Given the description of an element on the screen output the (x, y) to click on. 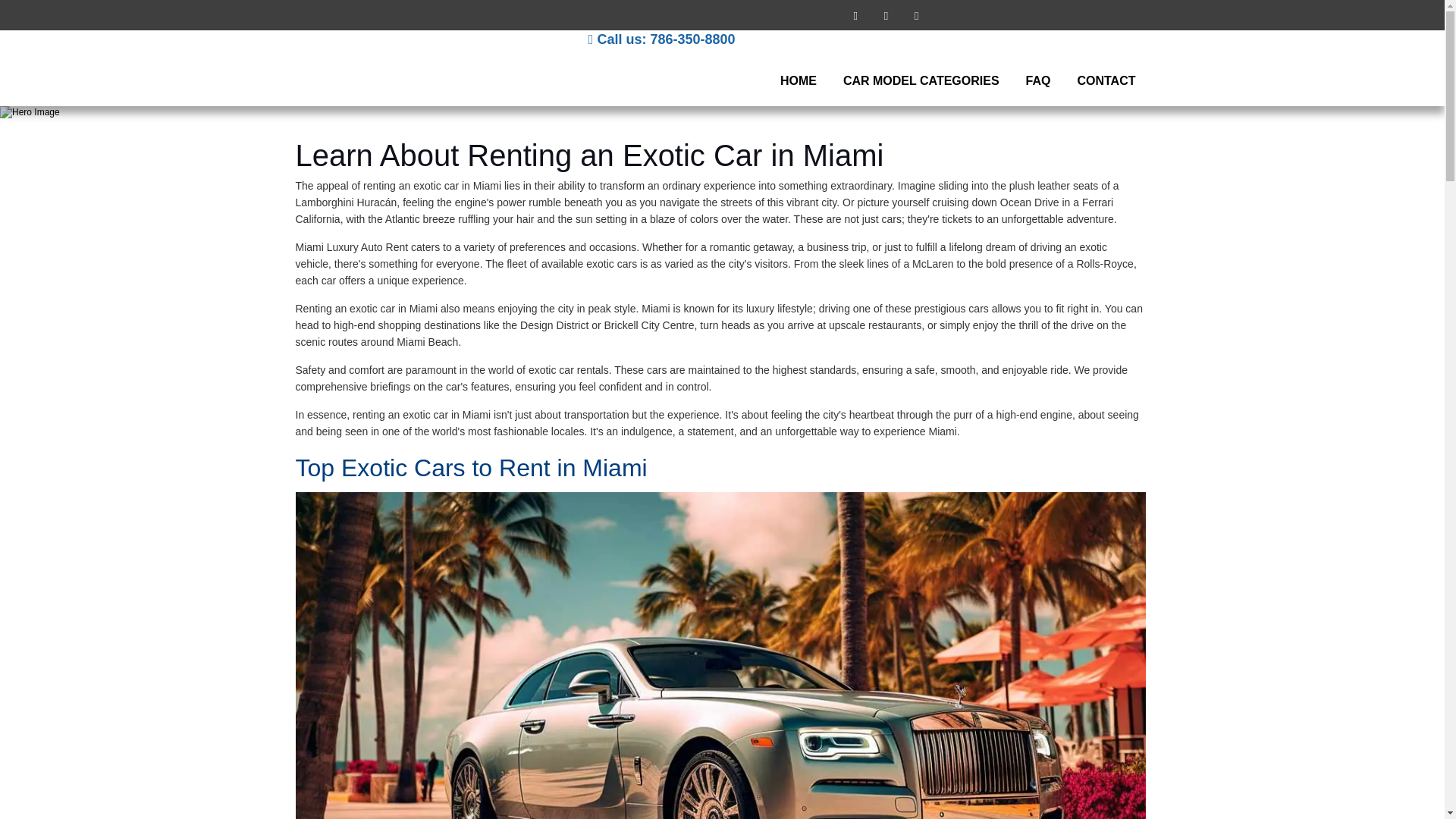
HOME (798, 79)
FAQ (1038, 79)
CAR MODEL CATEGORIES (920, 79)
786-350-8800 (692, 38)
CONTACT (1106, 79)
Miami Luxury Auto Rent (402, 73)
Miami Luxury Auto Rent (402, 73)
